Given the description of an element on the screen output the (x, y) to click on. 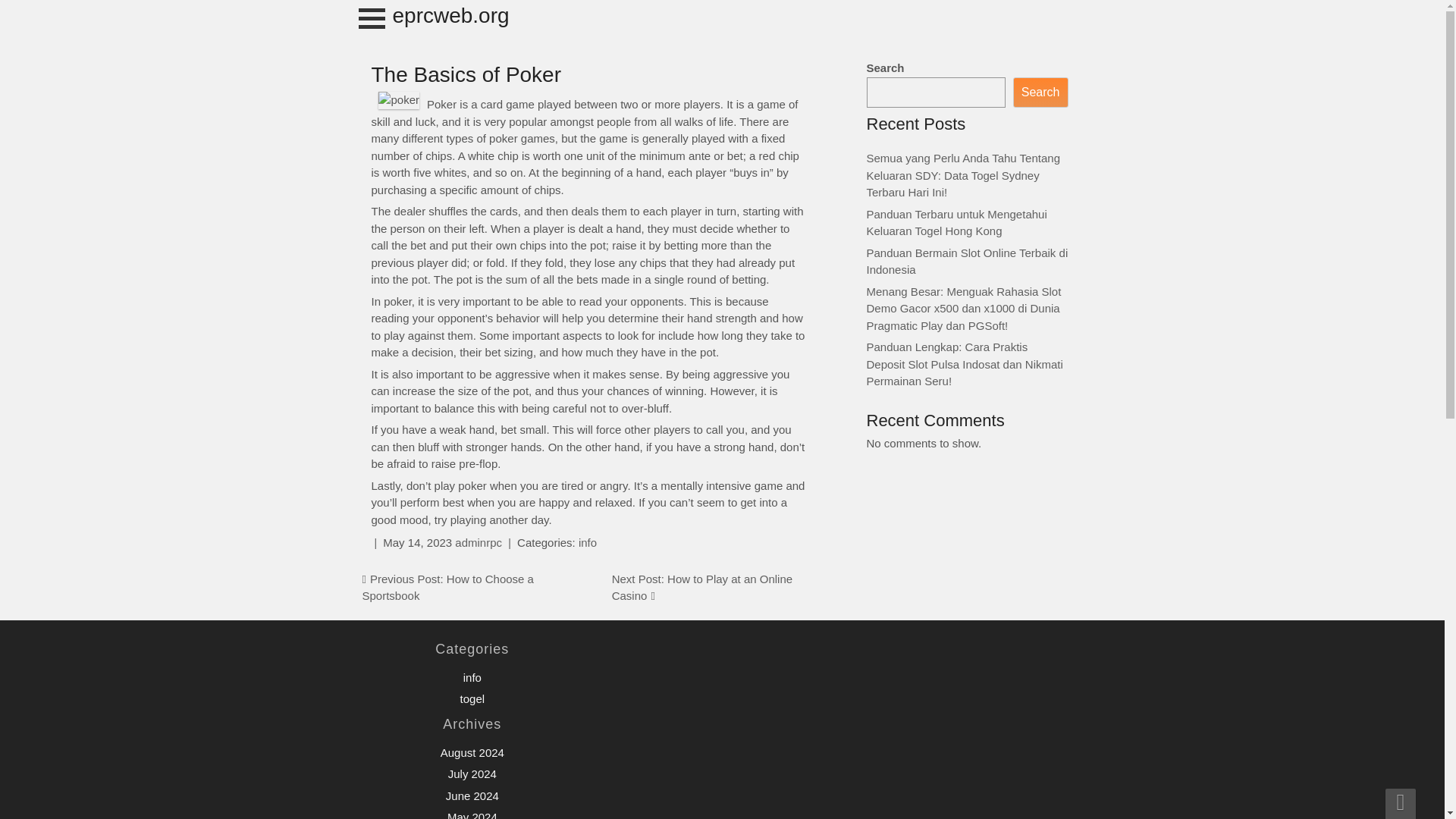
Next Post: How to Play at an Online Casino (701, 587)
info (587, 542)
adminrpc (478, 542)
togel (472, 698)
May 2024 (471, 814)
Posts by adminrpc (478, 542)
July 2024 (472, 773)
Previous Post: How to Choose a Sportsbook (448, 587)
